Given the description of an element on the screen output the (x, y) to click on. 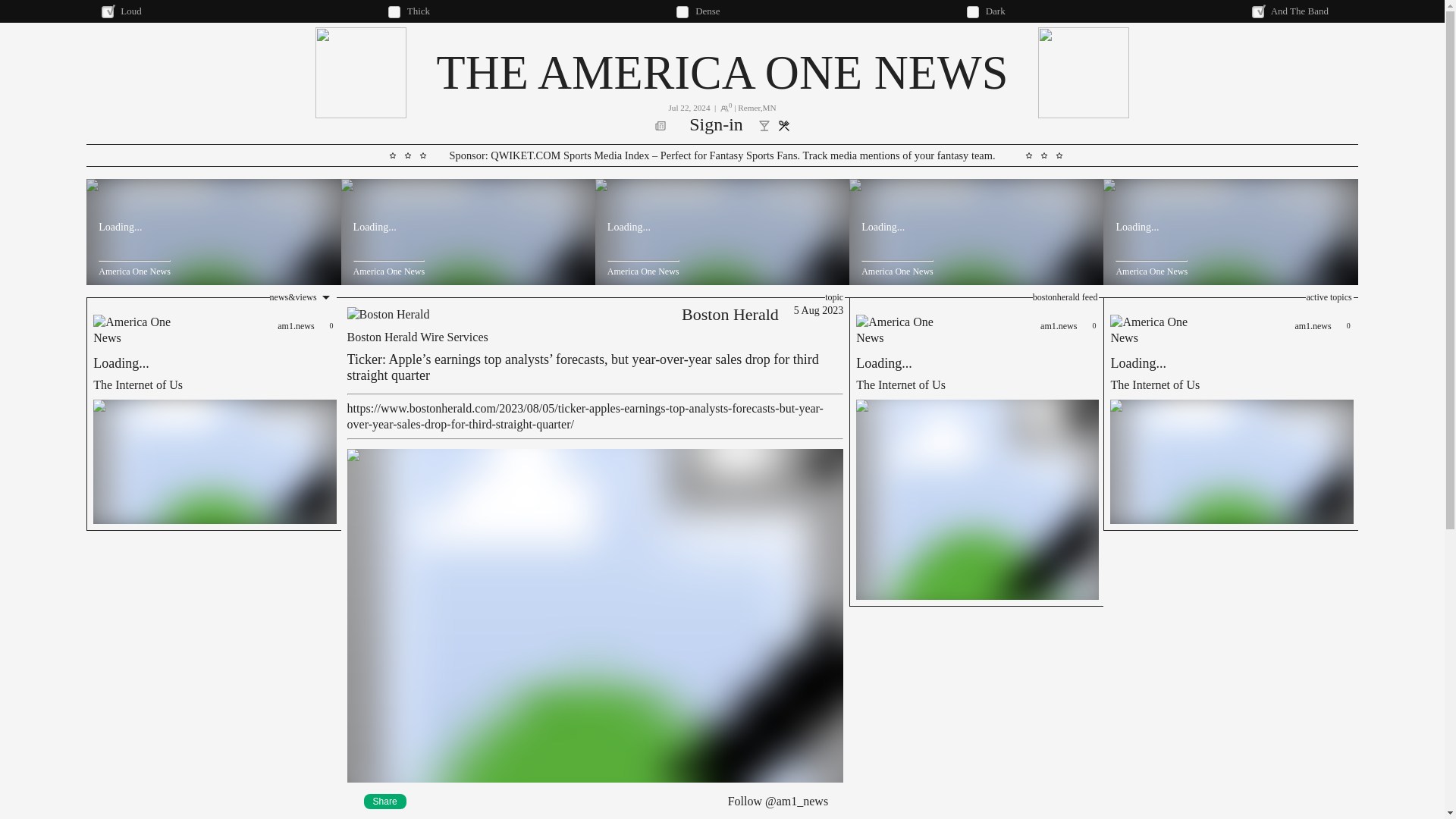
QWIKET.COM (1229, 413)
THE AMERICA ONE NEWS (525, 154)
Share (720, 72)
Boston Herald (212, 413)
Sign-in (385, 801)
